Given the description of an element on the screen output the (x, y) to click on. 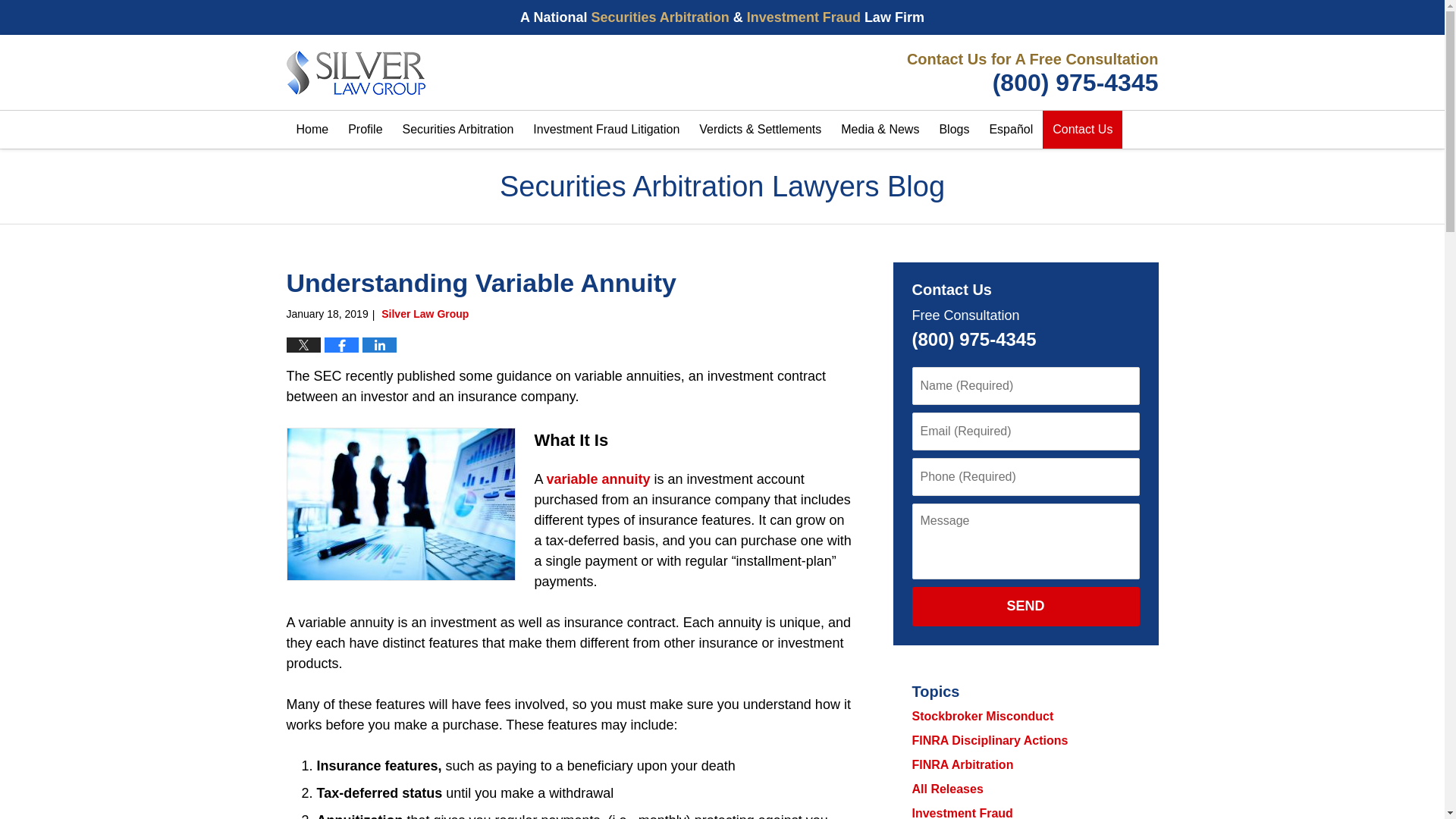
Silver Law Group (1028, 72)
Blogs (953, 129)
variable annuity (598, 478)
Contact Us (1082, 129)
Securities Arbitration (458, 129)
Investment Fraud Litigation (605, 129)
Securities Arbitration Lawyers Blog (355, 72)
Home (312, 129)
Profile (364, 129)
Silver Law Group (424, 313)
